Given the description of an element on the screen output the (x, y) to click on. 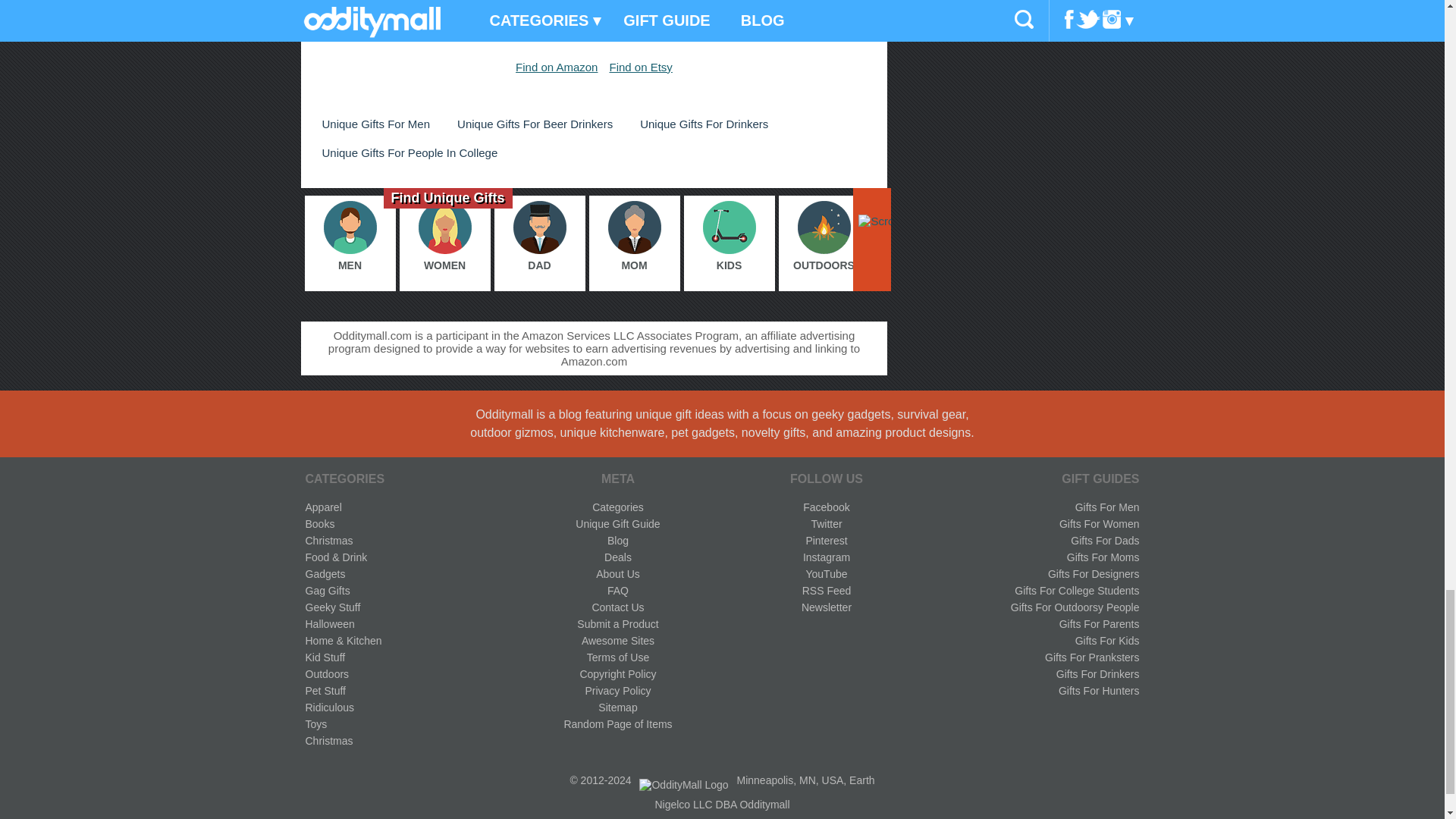
Unique Gifts For Men (375, 123)
Unique Gifts For Beer Drinkers (534, 123)
Find on Etsy (639, 66)
Unique Gifts For Drinkers (703, 123)
Unique Gifts For People In College (409, 152)
Unique Gifts For Drinkers (703, 123)
Unique Gifts For Men (375, 123)
Check Today's Price (593, 11)
Unique Gifts For Beer Drinkers (534, 123)
Find on Amazon (555, 66)
